Given the description of an element on the screen output the (x, y) to click on. 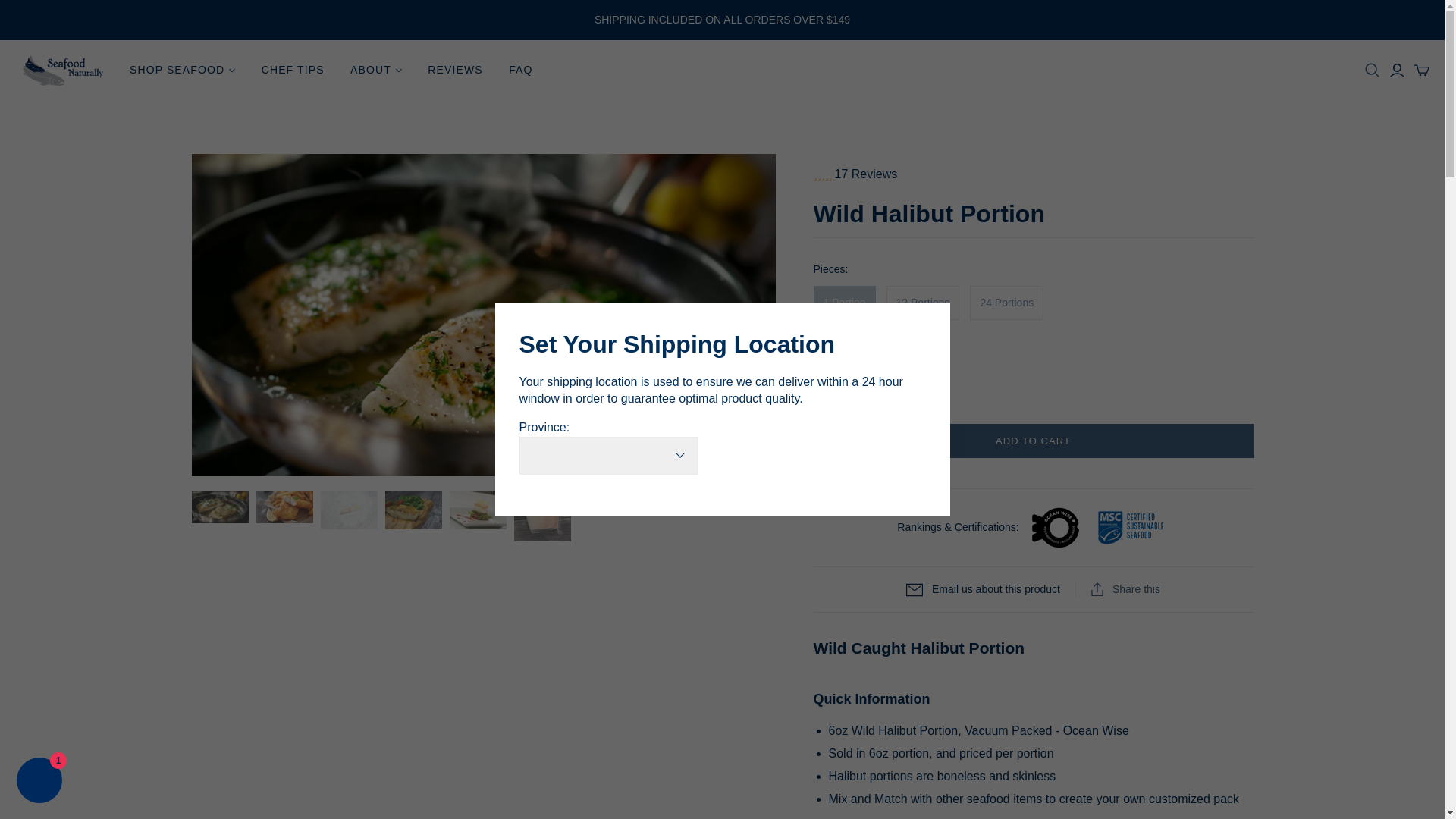
Ocean Wise Recommended (1055, 527)
MSC - Certified Sustainable Seafood (1130, 527)
CHEF TIPS (293, 70)
Shopify online store chat (38, 781)
ABOUT (376, 70)
1 (851, 382)
SHOP SEAFOOD (181, 70)
